Given the description of an element on the screen output the (x, y) to click on. 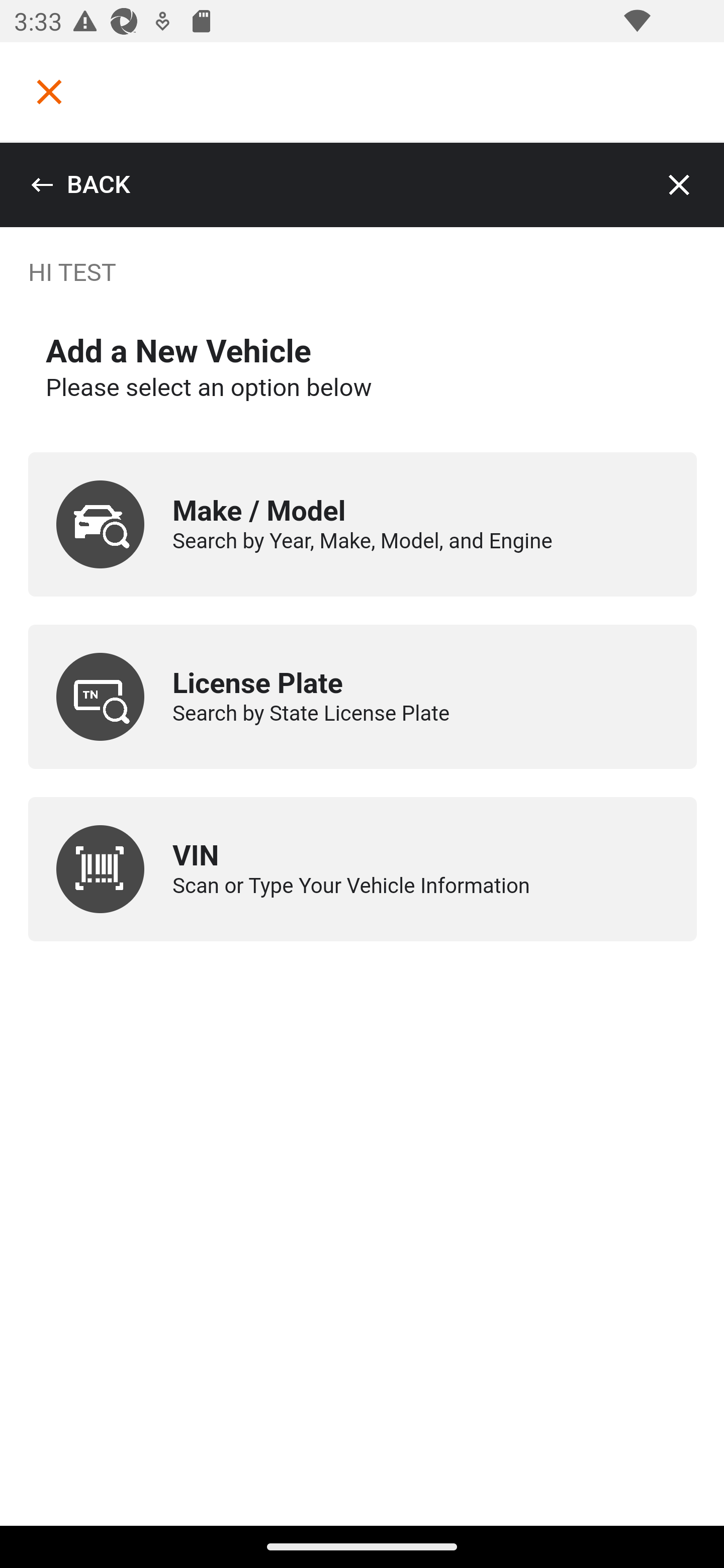
 (49, 91)
